Given the description of an element on the screen output the (x, y) to click on. 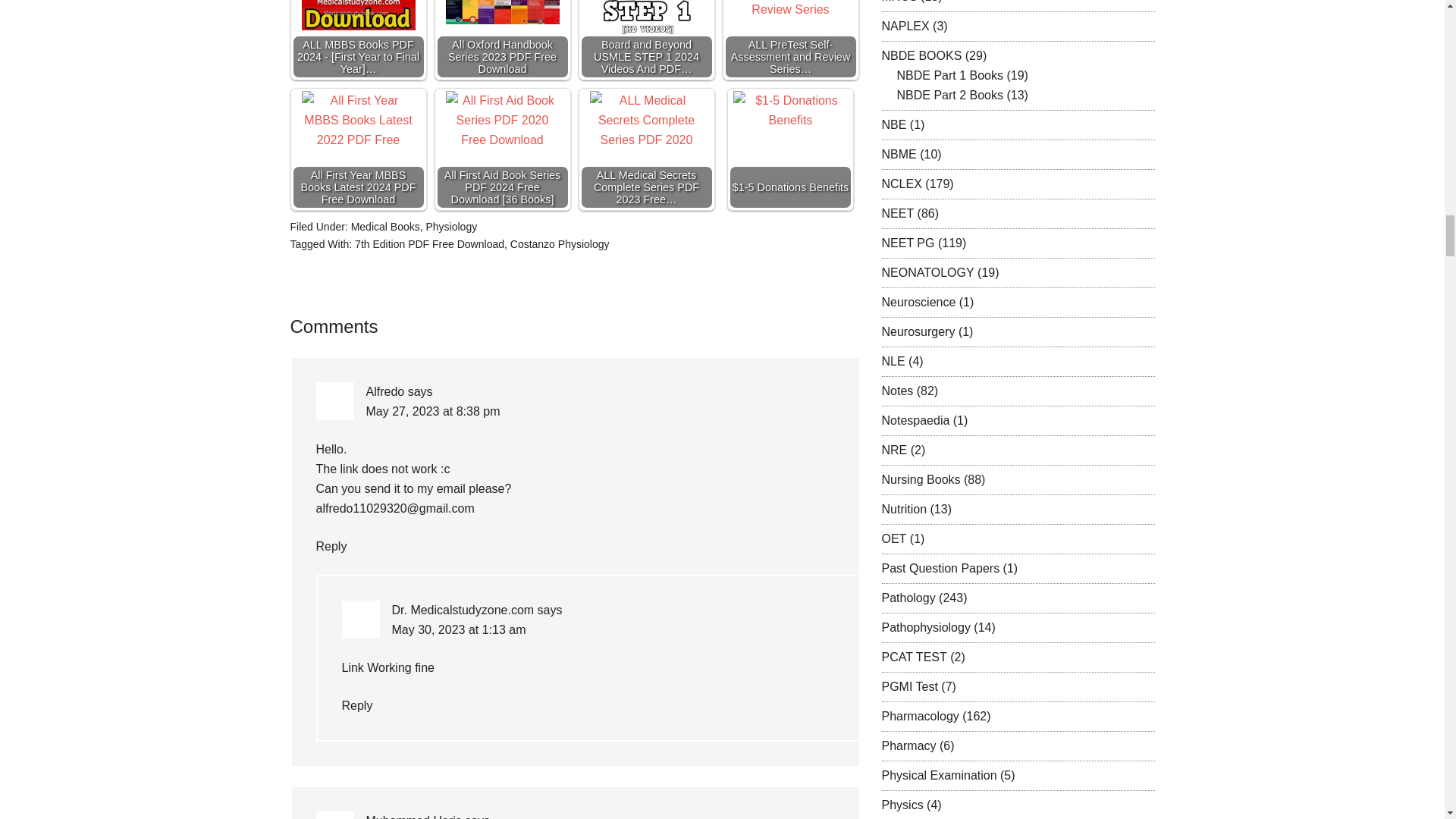
All Oxford Handbook Series 2023 PDF Free Download (502, 12)
All First Year MBBS Books Latest 2024 PDF Free Download (357, 122)
